Given the description of an element on the screen output the (x, y) to click on. 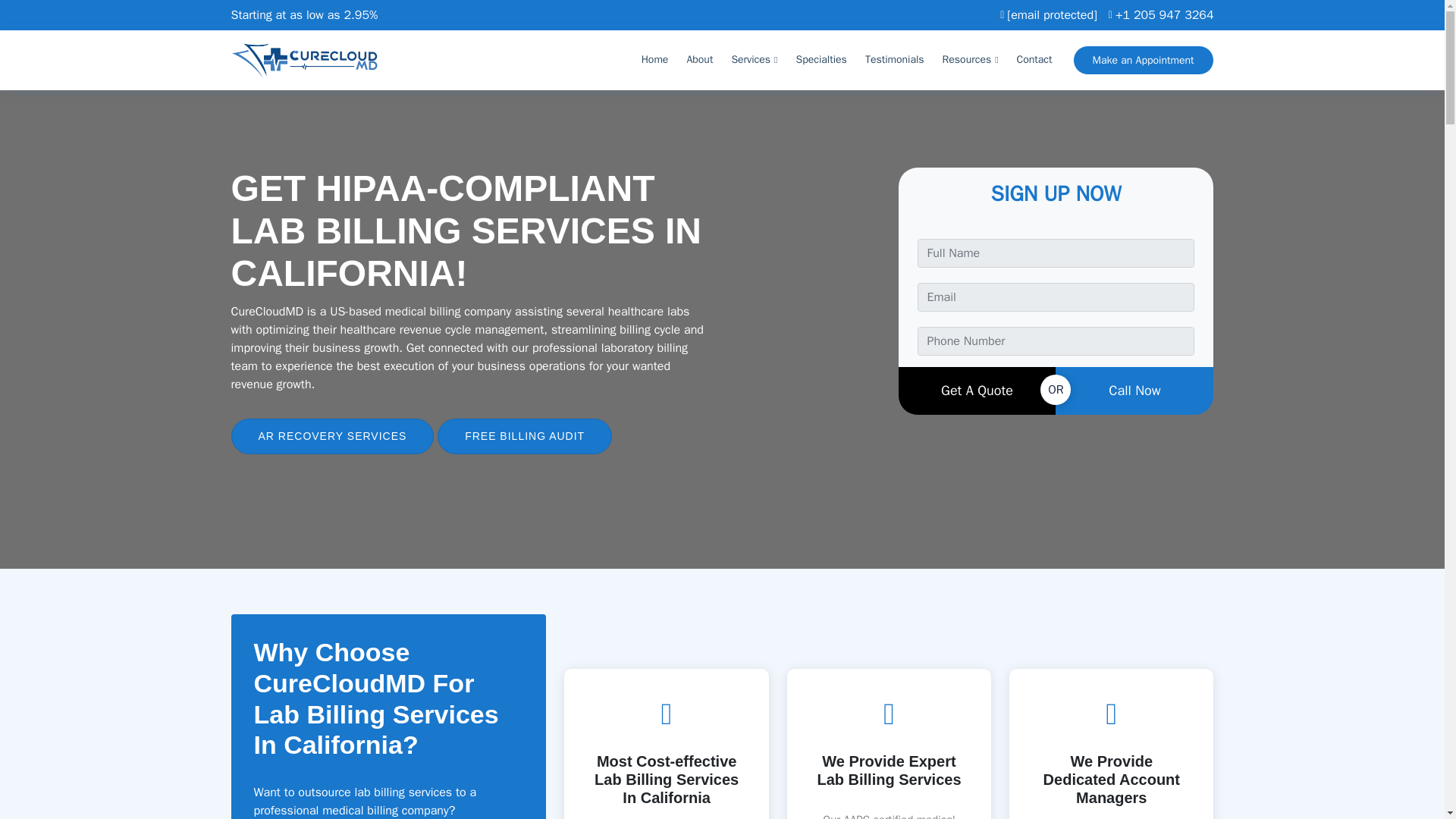
About (699, 59)
Services (753, 59)
Home (654, 59)
Contact (1034, 59)
Home (654, 59)
Testimonials (894, 59)
Contact (1034, 59)
AR RECOVERY SERVICES (331, 436)
Make an Appointment (1143, 60)
Specialties (821, 59)
